Given the description of an element on the screen output the (x, y) to click on. 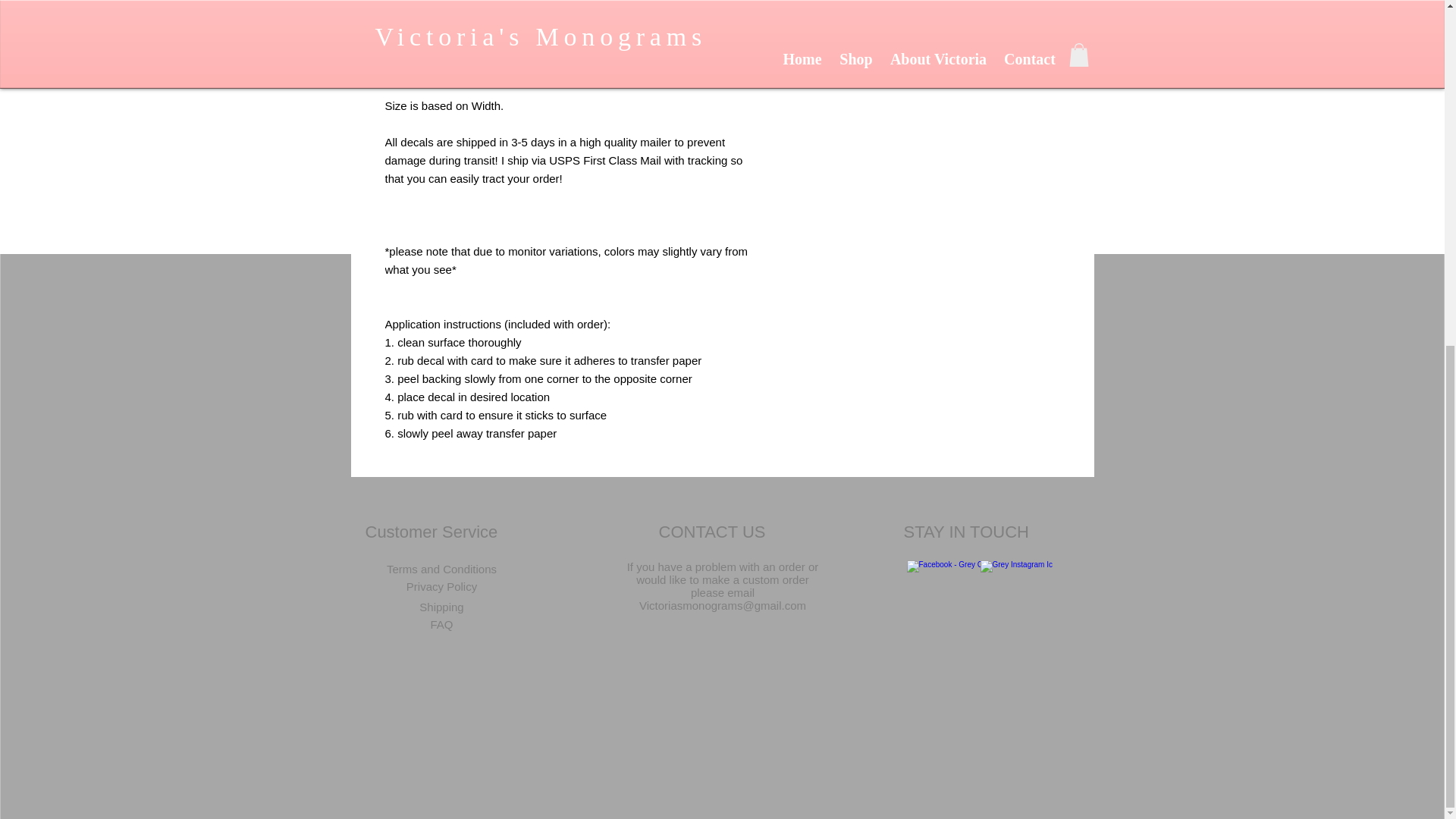
FAQ (442, 624)
Shipping (442, 606)
Terms and Conditions (441, 569)
Privacy Policy (442, 586)
